Given the description of an element on the screen output the (x, y) to click on. 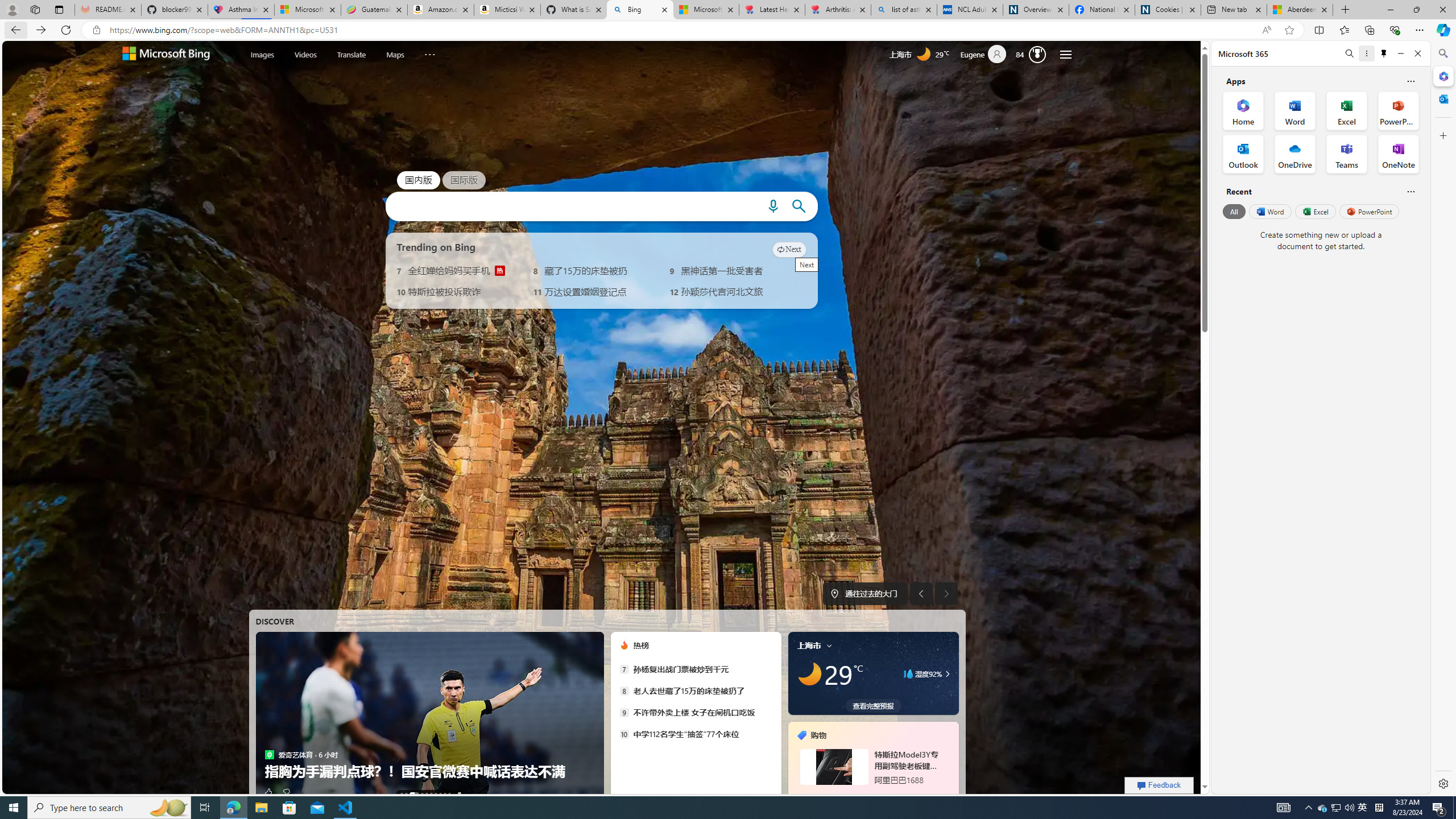
App bar (728, 29)
Previous image (921, 593)
tab-10 (879, 795)
Maps (394, 53)
OneDrive Office App (1295, 154)
Search using voice (772, 205)
Translate (351, 54)
Bing (640, 9)
Home Office App (1243, 110)
